Given the description of an element on the screen output the (x, y) to click on. 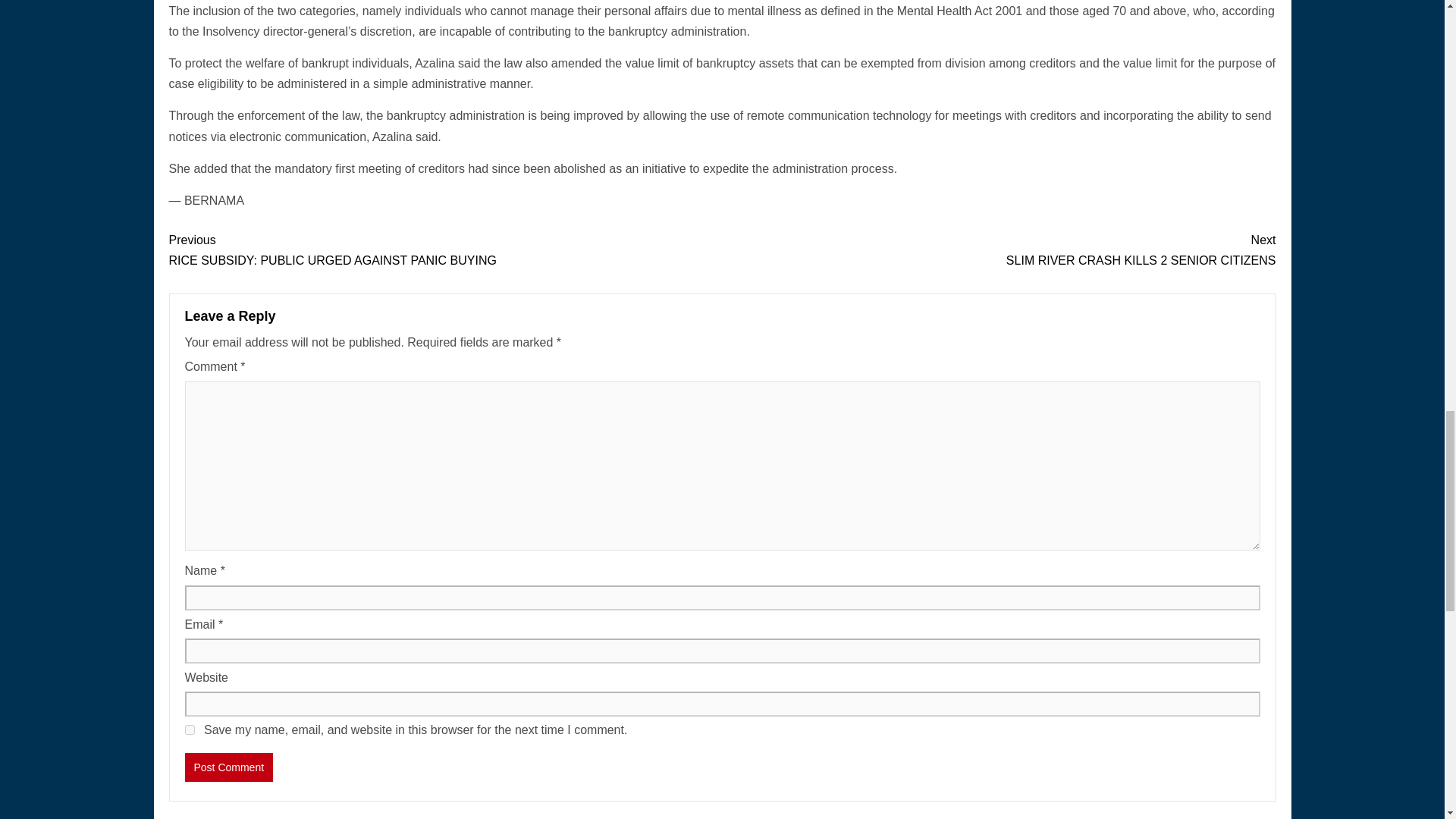
Post Comment (998, 250)
yes (228, 767)
Post Comment (189, 729)
